Given the description of an element on the screen output the (x, y) to click on. 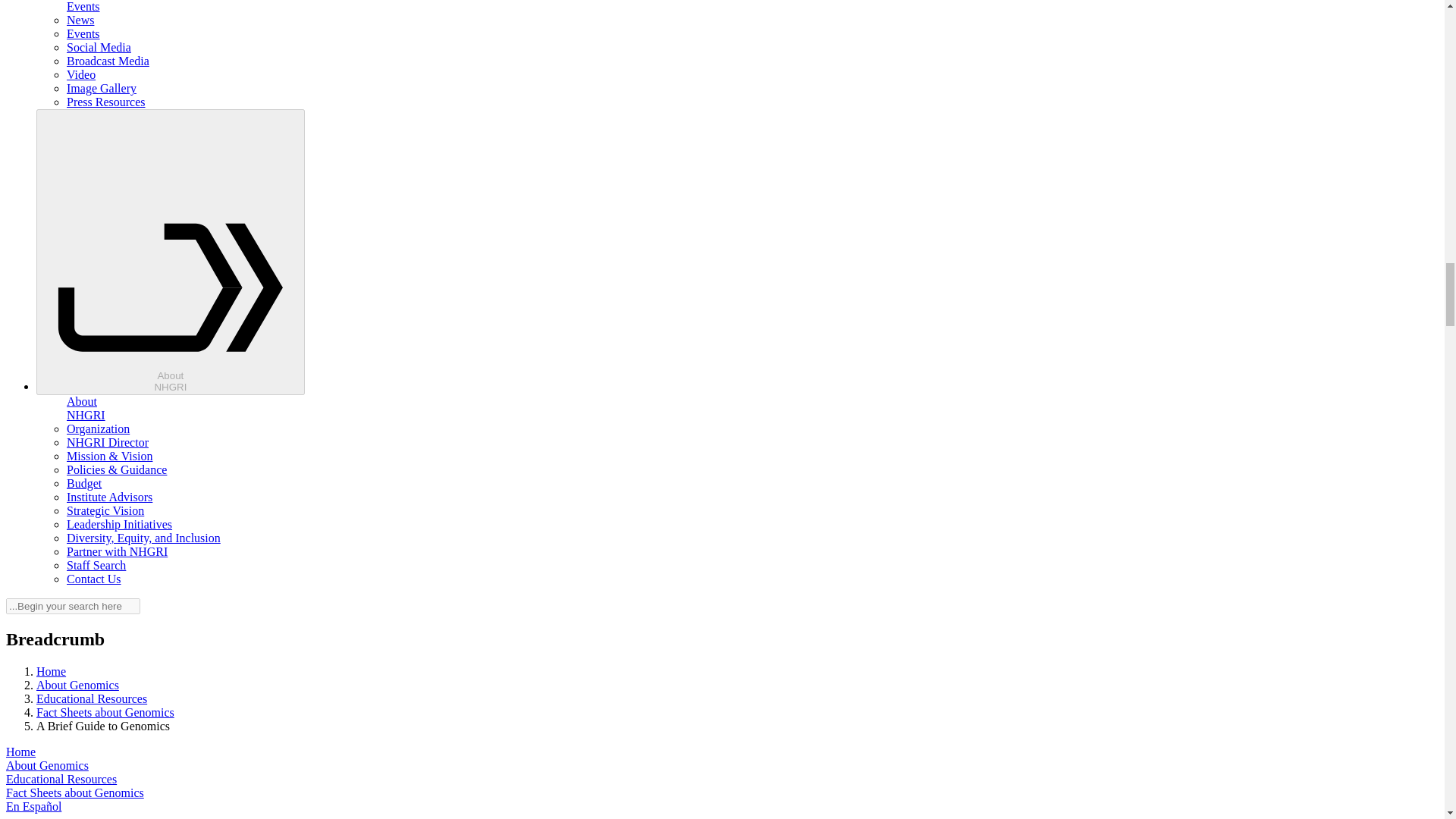
enter the terms you wish to search for (72, 606)
